Given the description of an element on the screen output the (x, y) to click on. 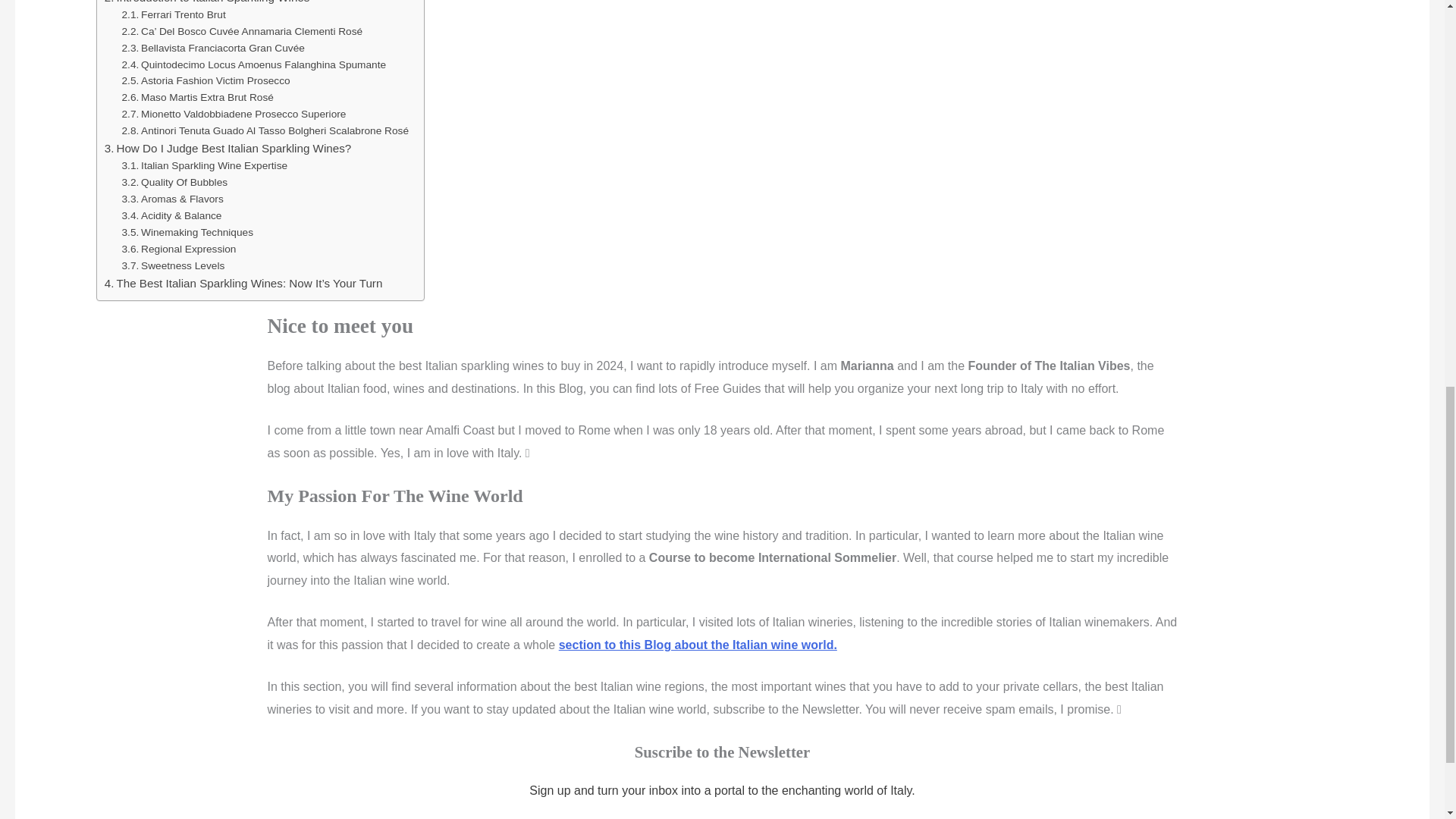
Ferrari Trento Brut (173, 14)
Introduction to Italian Sparkling Wines (207, 3)
Astoria Fashion Victim Prosecco (205, 80)
Quintodecimo Locus Amoenus Falanghina Spumante (254, 64)
Mionetto Valdobbiadene Prosecco Superiore (234, 114)
Introduction to Italian Sparkling Wines (207, 3)
